Given the description of an element on the screen output the (x, y) to click on. 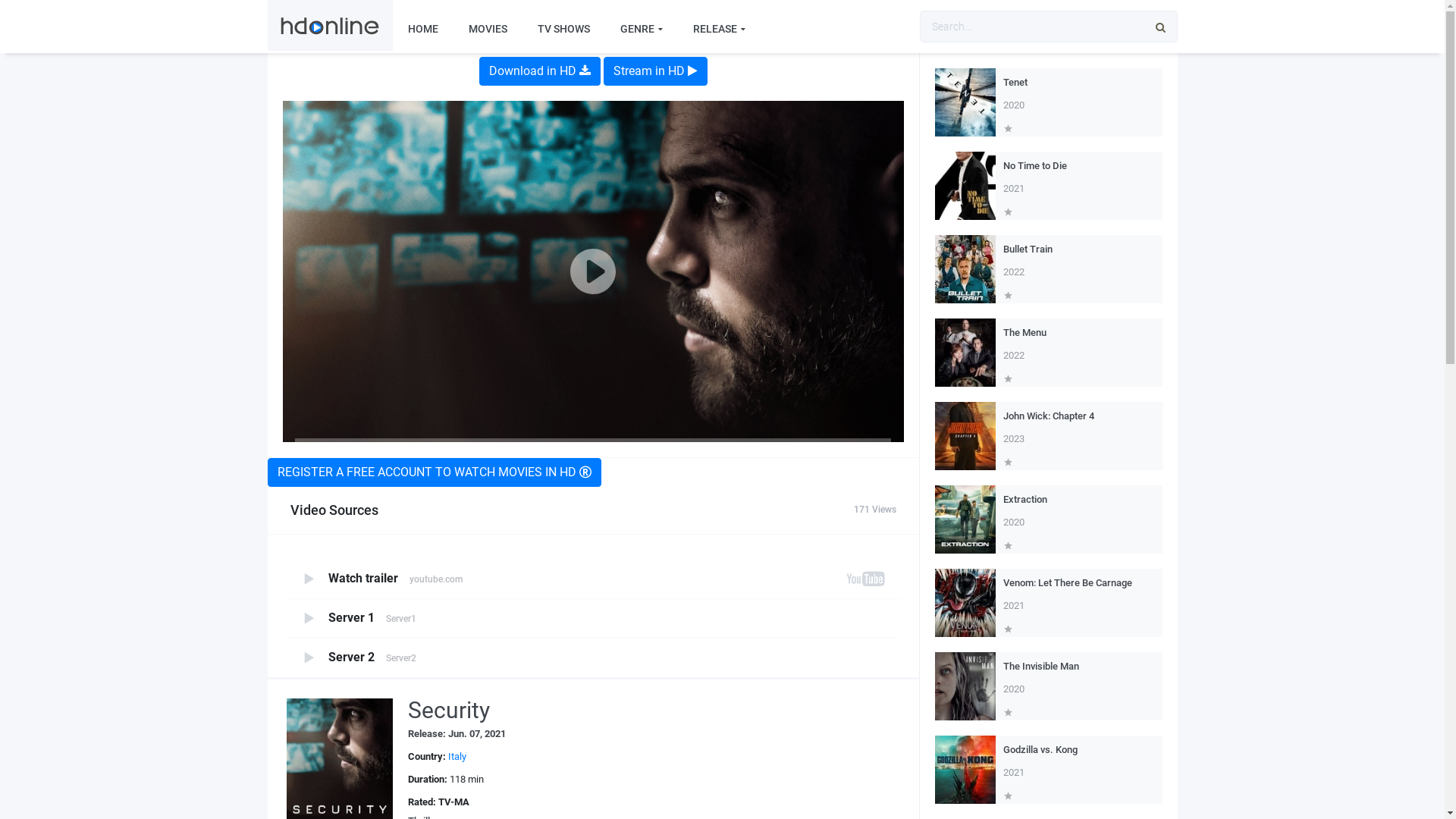
RELEASE Element type: text (718, 29)
MOVIES Element type: text (487, 29)
Italy Element type: text (456, 756)
GENRE Element type: text (641, 29)
Download in HD Element type: text (539, 70)
REGISTER A FREE ACCOUNT TO WATCH MOVIES IN HD Element type: text (433, 472)
Stream in HD Element type: text (655, 70)
TV SHOWS Element type: text (562, 29)
HOME Element type: text (422, 29)
